Given the description of an element on the screen output the (x, y) to click on. 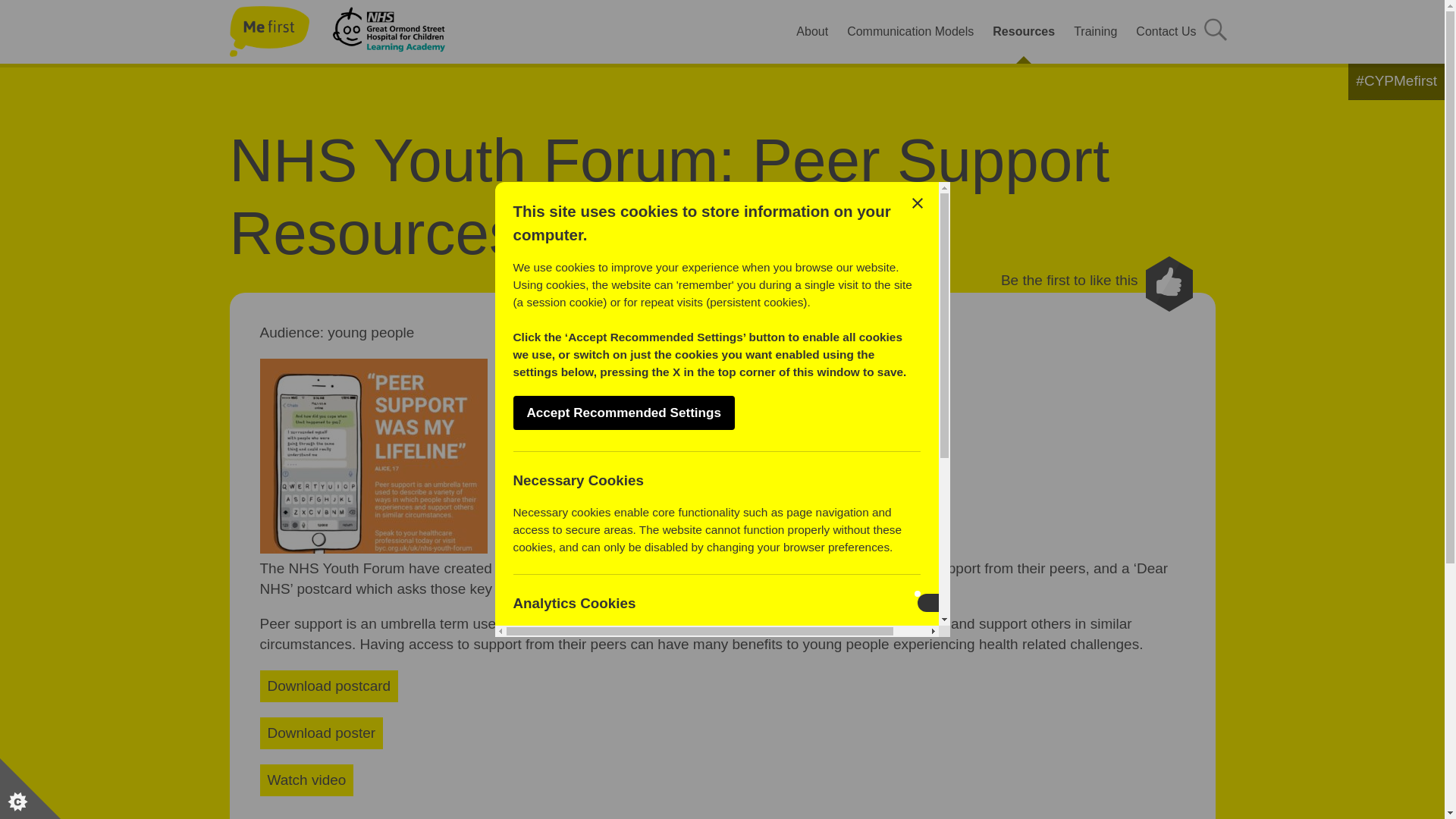
Training (1094, 31)
Download poster (320, 733)
Resources (1023, 31)
Contact Us (1166, 31)
Communication Models (910, 31)
Watch video (306, 780)
Be the first to like this (1096, 284)
Download postcard (328, 685)
